Given the description of an element on the screen output the (x, y) to click on. 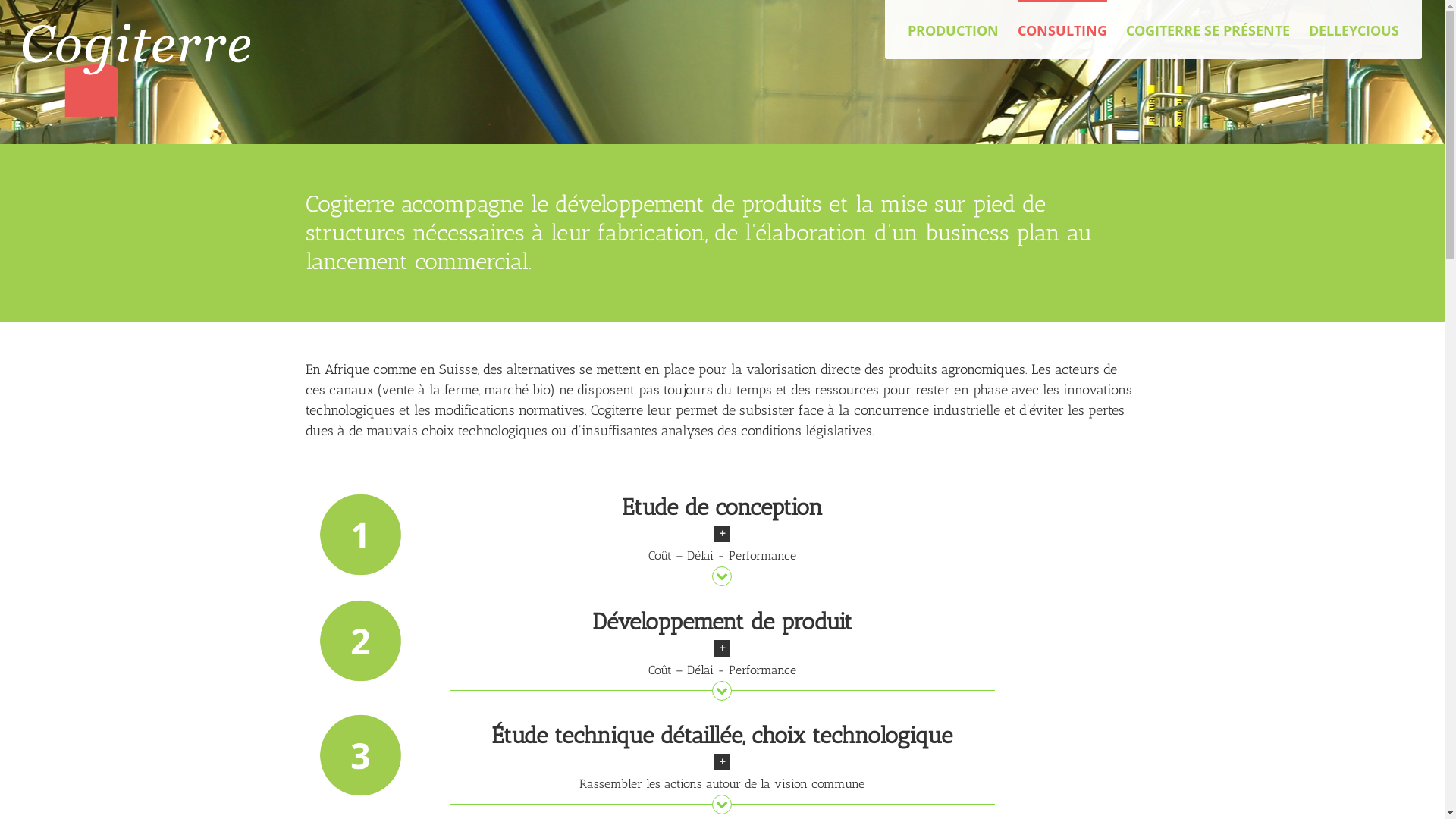
Rassembler les actions autour de la vision commune Element type: text (721, 776)
PRODUCTION Element type: text (952, 29)
DELLEYCIOUS Element type: text (1353, 29)
CONSULTING Element type: text (1062, 29)
